Given the description of an element on the screen output the (x, y) to click on. 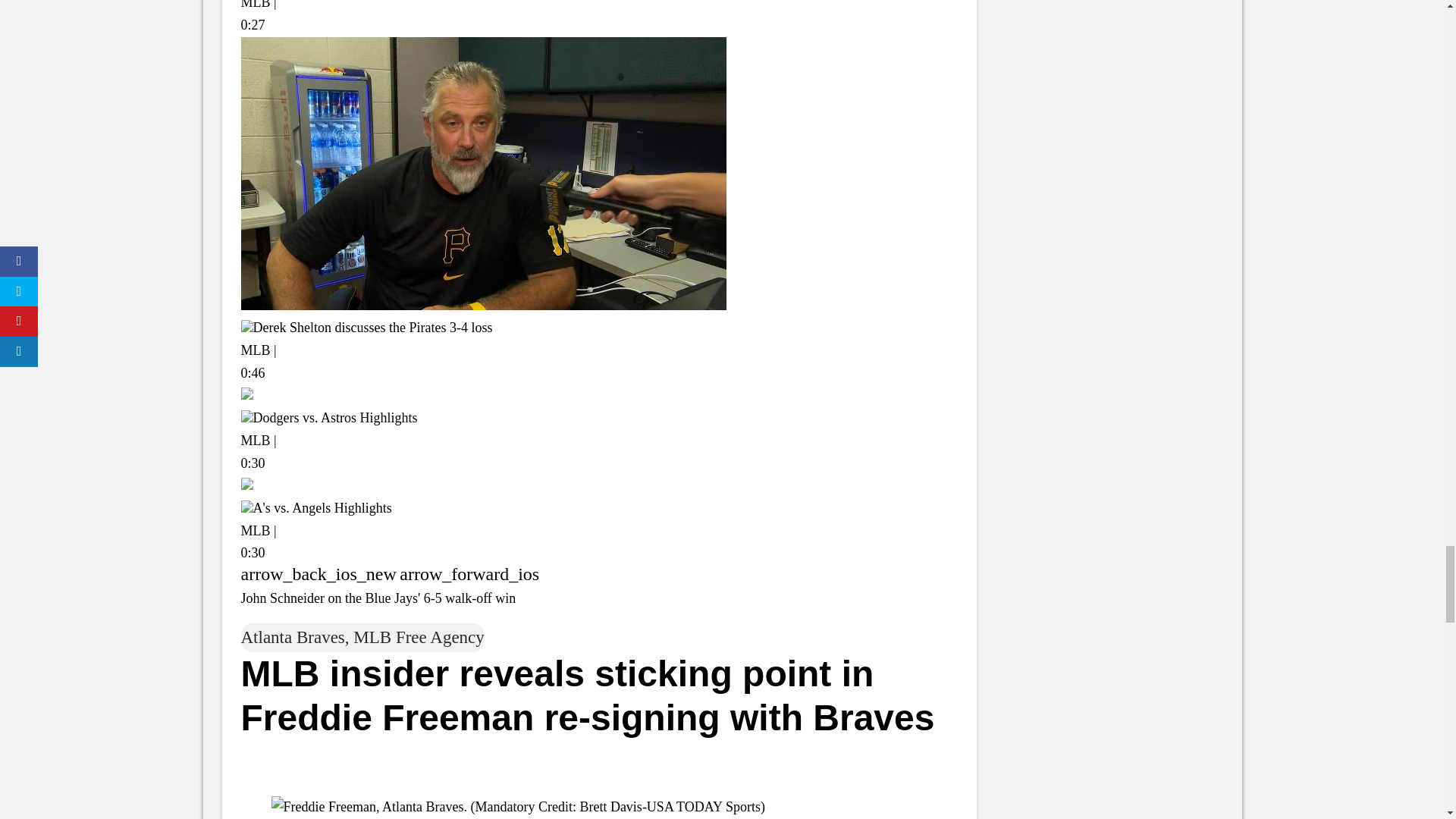
MLB Free Agency (418, 637)
Atlanta Braves (293, 637)
